Given the description of an element on the screen output the (x, y) to click on. 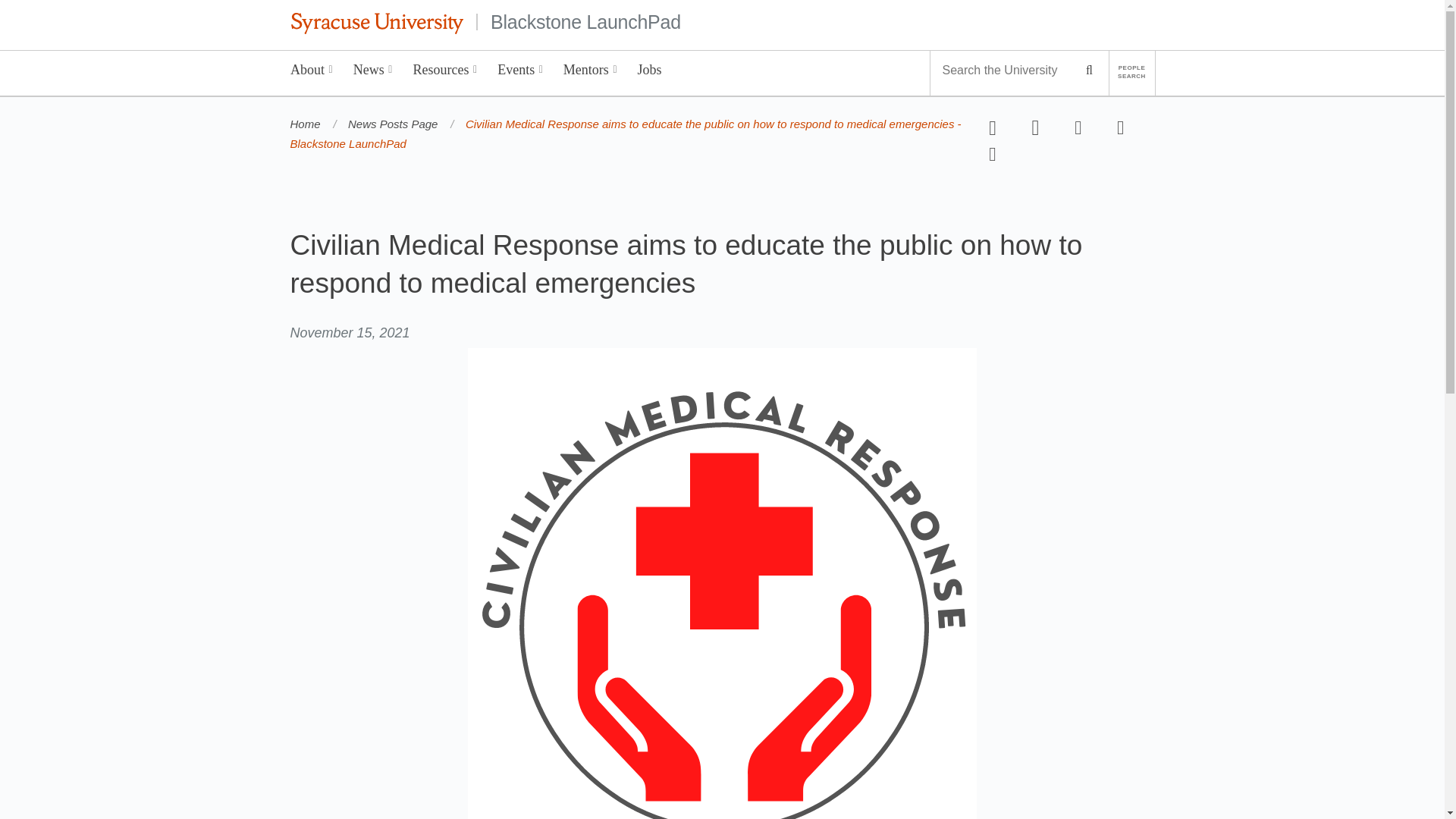
Events (520, 72)
Resources (445, 72)
About (312, 72)
News (372, 72)
Blackstone LaunchPad (585, 20)
